Given the description of an element on the screen output the (x, y) to click on. 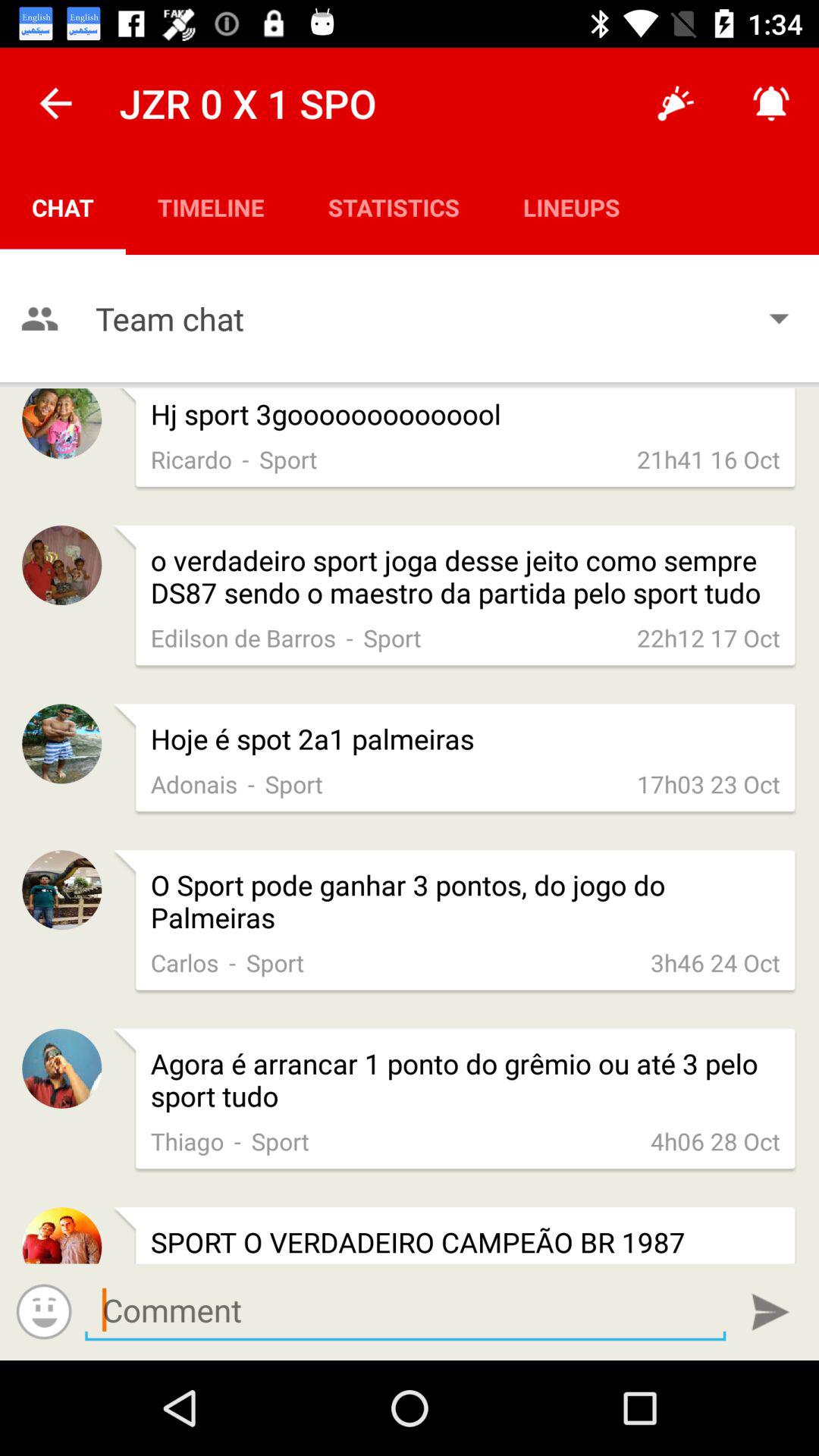
write a comment (405, 1310)
